Given the description of an element on the screen output the (x, y) to click on. 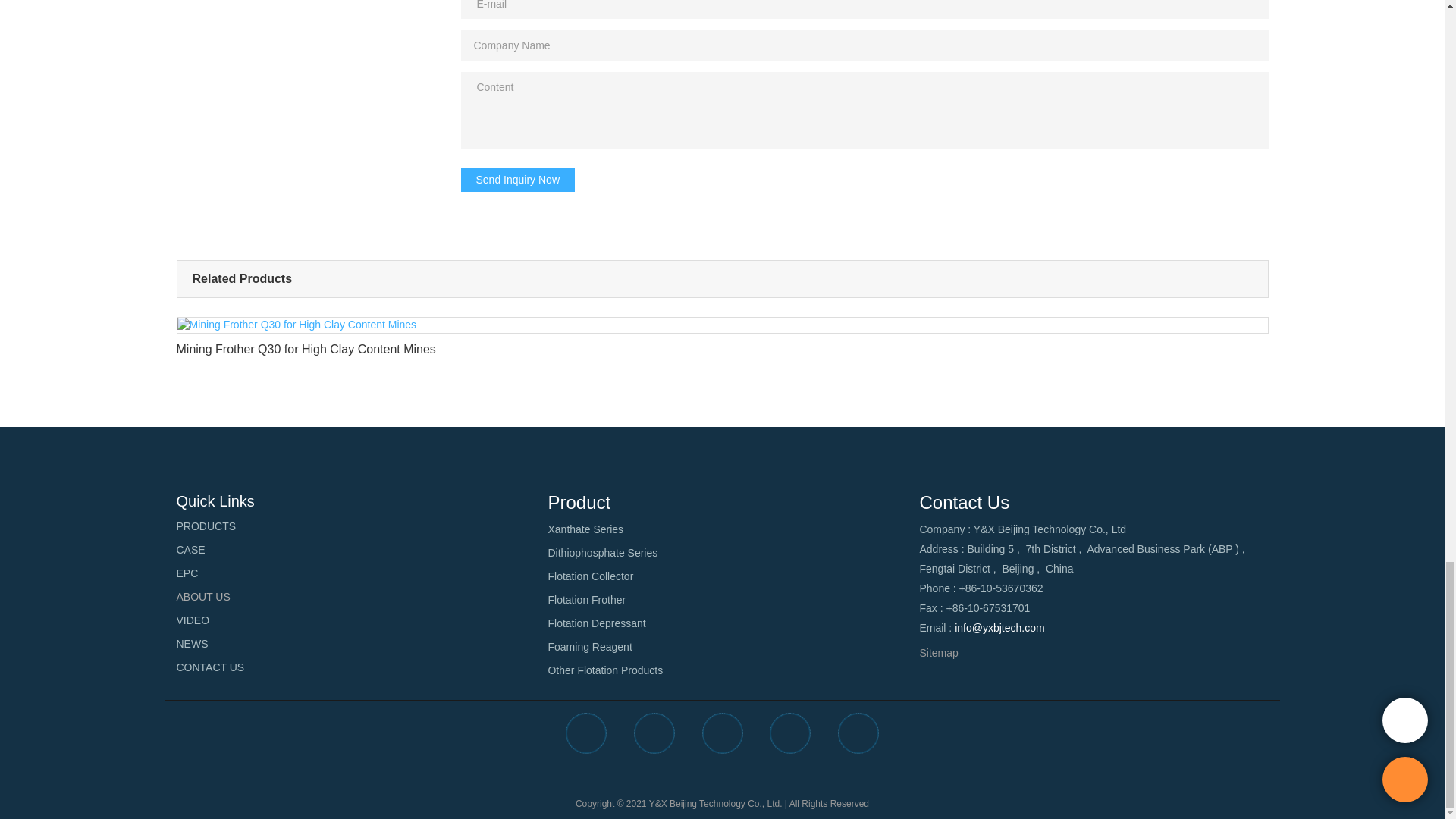
NEWS (192, 644)
ABOUT US (203, 596)
CASE (190, 550)
VIDEO (192, 620)
Send Inquiry Now (518, 179)
PRODUCTS (205, 526)
Mining Frother Q30 for High Clay Content Mines (722, 341)
EPC (187, 573)
